Given the description of an element on the screen output the (x, y) to click on. 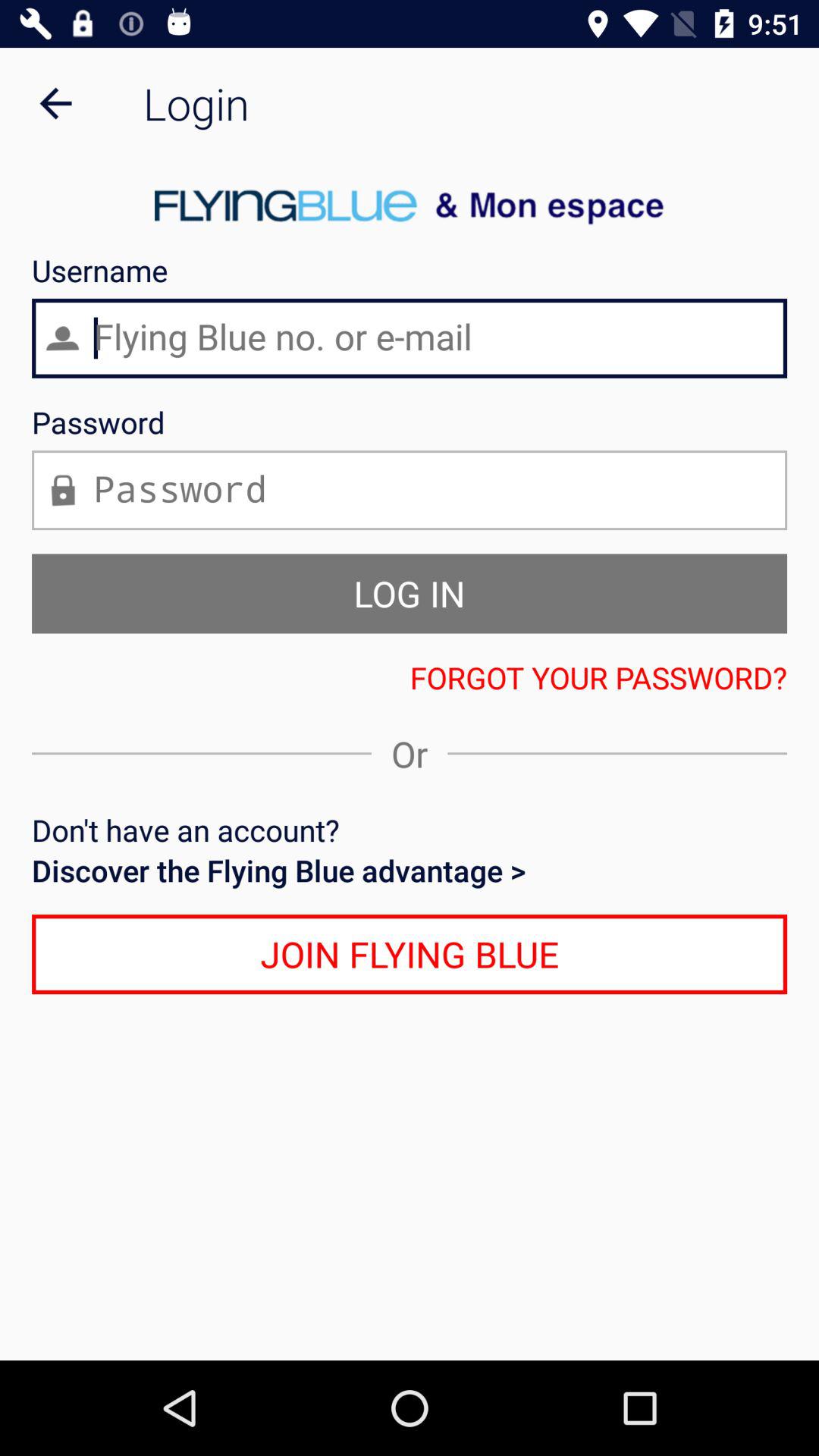
flip to the forgot your password? item (409, 677)
